Given the description of an element on the screen output the (x, y) to click on. 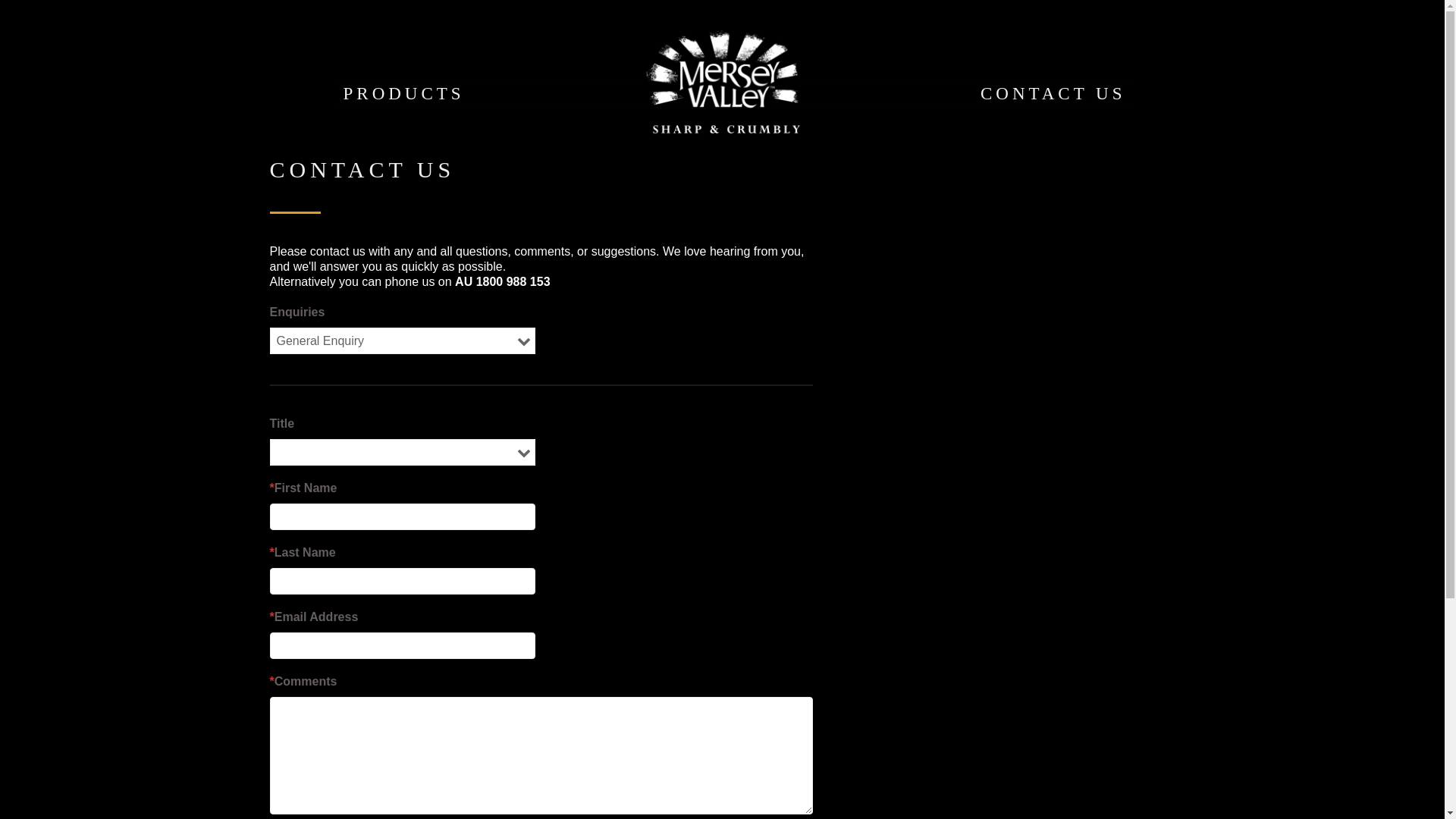
CONTACT US Element type: text (1052, 91)
Home Element type: hover (721, 82)
PRODUCTS Element type: text (403, 91)
